Given the description of an element on the screen output the (x, y) to click on. 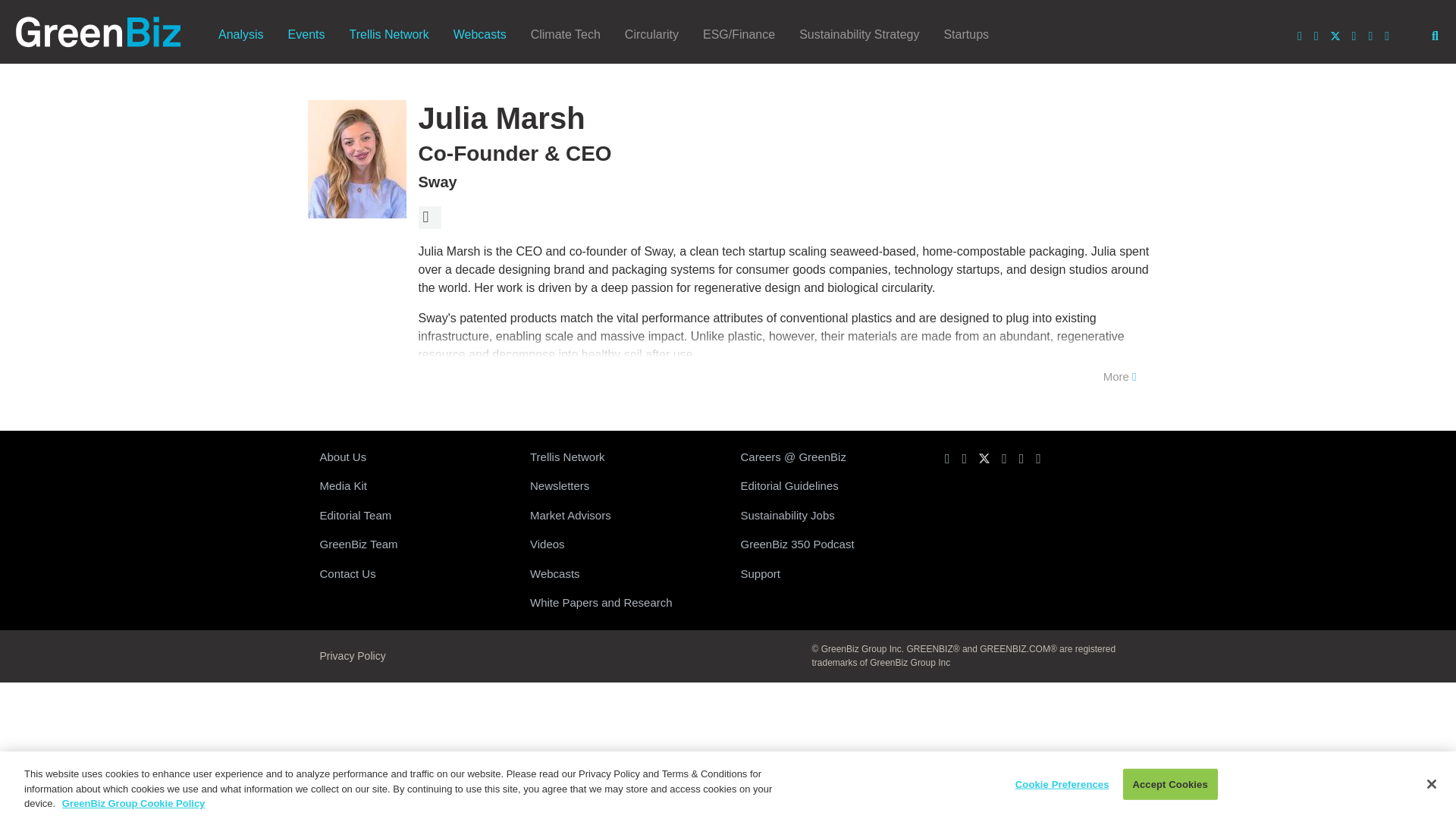
Facebook (1353, 36)
Analysis (241, 34)
Trellis Network (388, 34)
Instagram (1315, 36)
Information on GreenBiz Peer Network Offerings (623, 457)
Search (1434, 36)
This is a footer link. (412, 544)
Startups (966, 34)
Linkedin (1299, 36)
Julia Marsh linkedin (430, 217)
About GreenBiz Group (412, 457)
Circularity (651, 34)
Webcasts (479, 34)
